Given the description of an element on the screen output the (x, y) to click on. 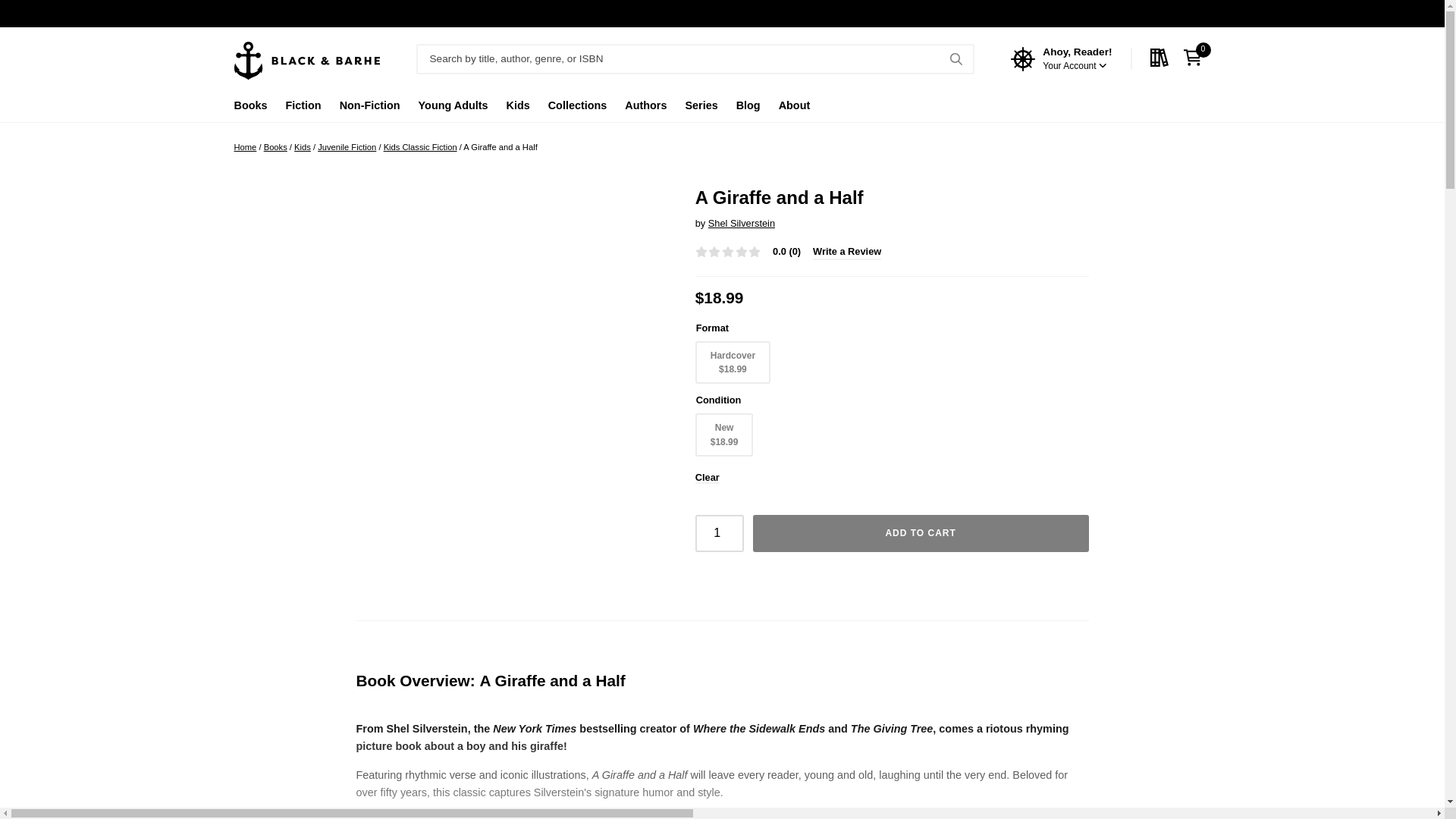
Books (249, 109)
1 (719, 533)
No reviews yet (727, 251)
Fiction (302, 109)
Search for: (694, 59)
0 (1195, 58)
